Given the description of an element on the screen output the (x, y) to click on. 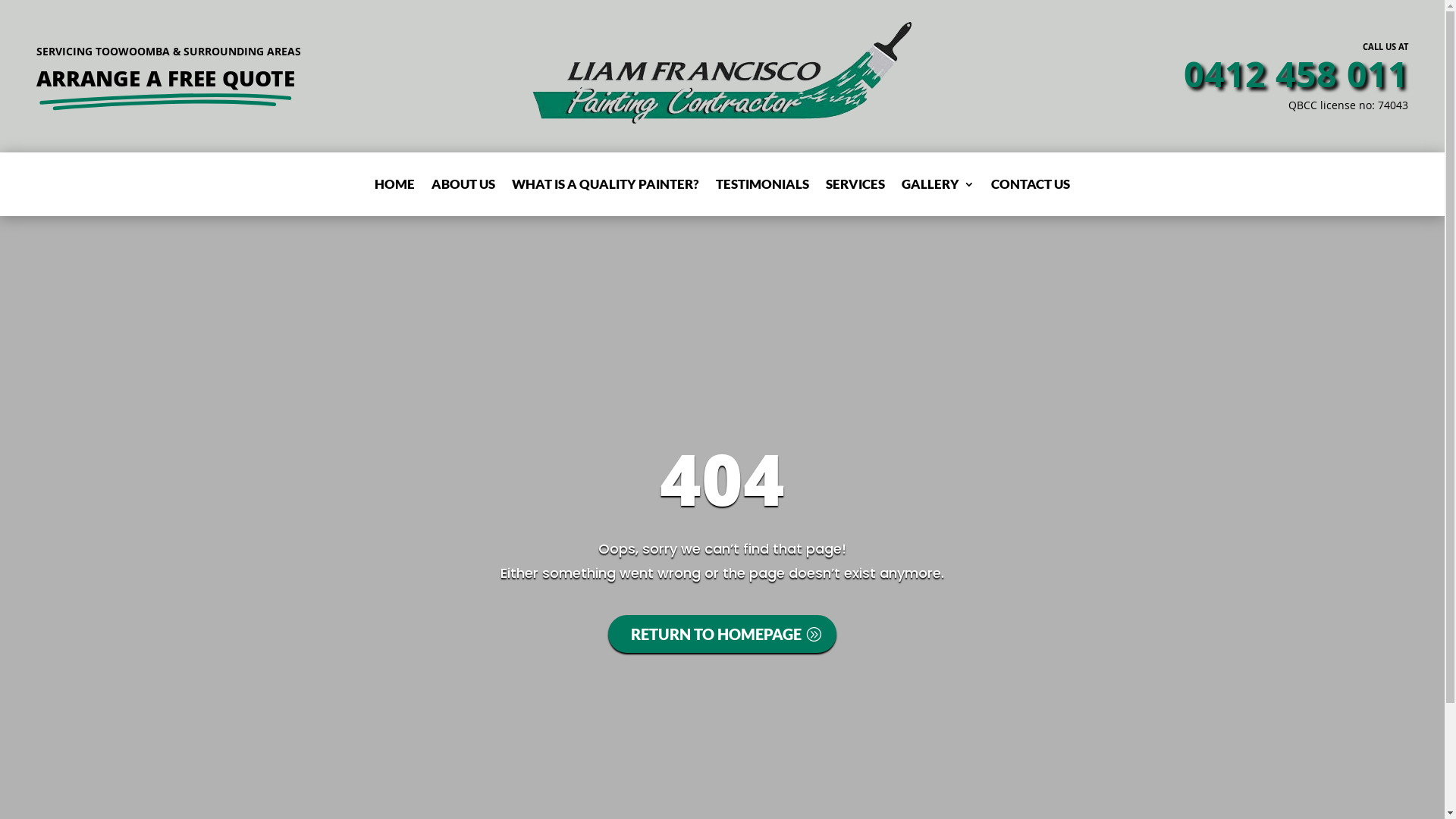
WHAT IS A QUALITY PAINTER? Element type: text (605, 186)
RETURN TO HOMEPAGE Element type: text (722, 633)
GALLERY Element type: text (937, 186)
Liam Francisco Painting Toowoomba Logo Element type: hover (721, 72)
HOME Element type: text (394, 186)
SERVICES Element type: text (854, 186)
0412 458 011 Element type: text (1295, 79)
CONTACT US Element type: text (1030, 186)
TESTIMONIALS Element type: text (762, 186)
ABOUT US Element type: text (463, 186)
